Given the description of an element on the screen output the (x, y) to click on. 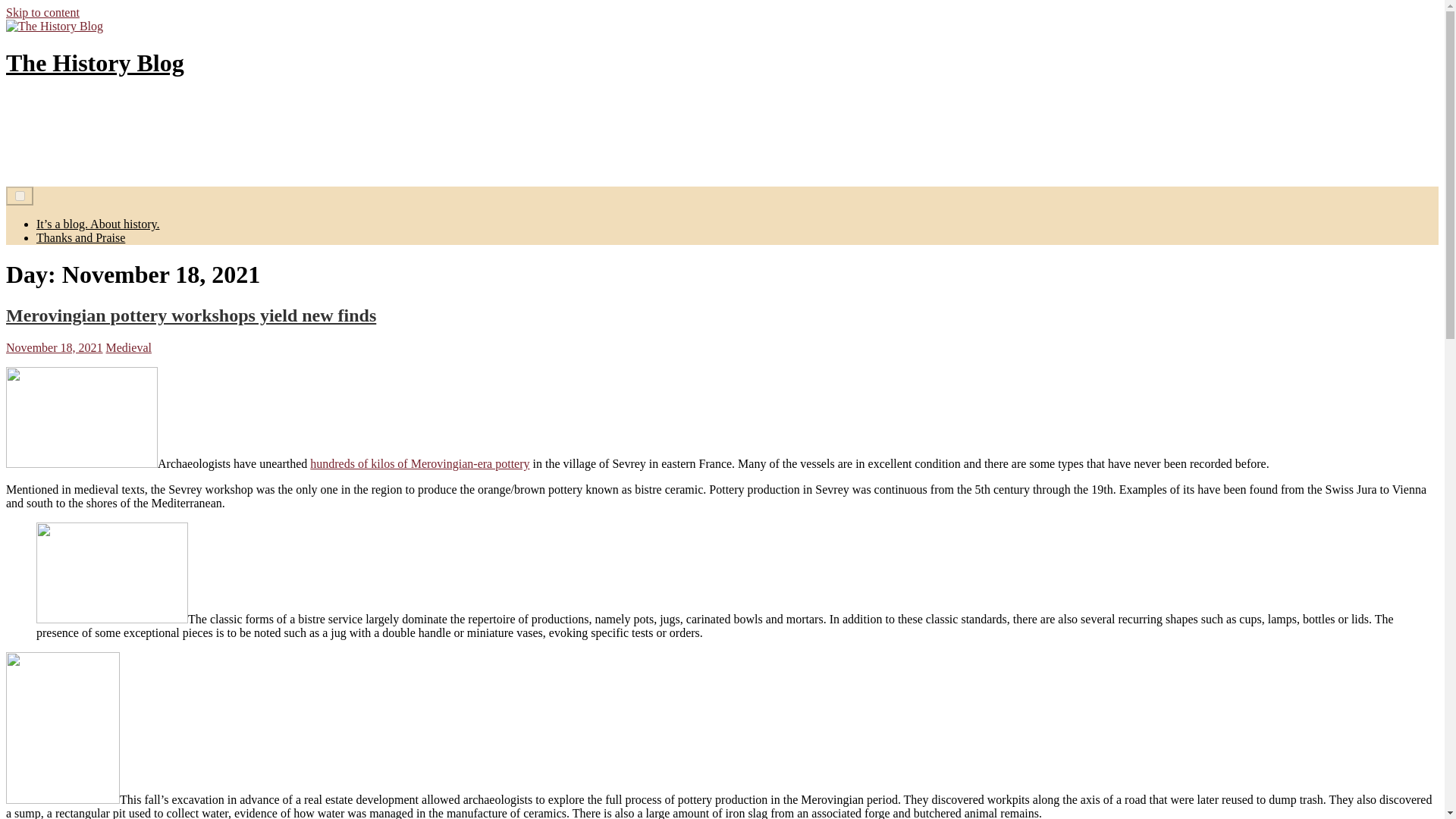
November 18, 2021 (54, 347)
on (19, 195)
Medieval (128, 347)
Miniaure vase. Photo by P. Quenton, Inrap. (111, 572)
Thanks and Praise (80, 237)
Skip to content (42, 11)
The History Blog (94, 62)
hundreds of kilos of Merovingian-era pottery (419, 463)
Merovingian pottery workshops yield new finds (190, 315)
